Given the description of an element on the screen output the (x, y) to click on. 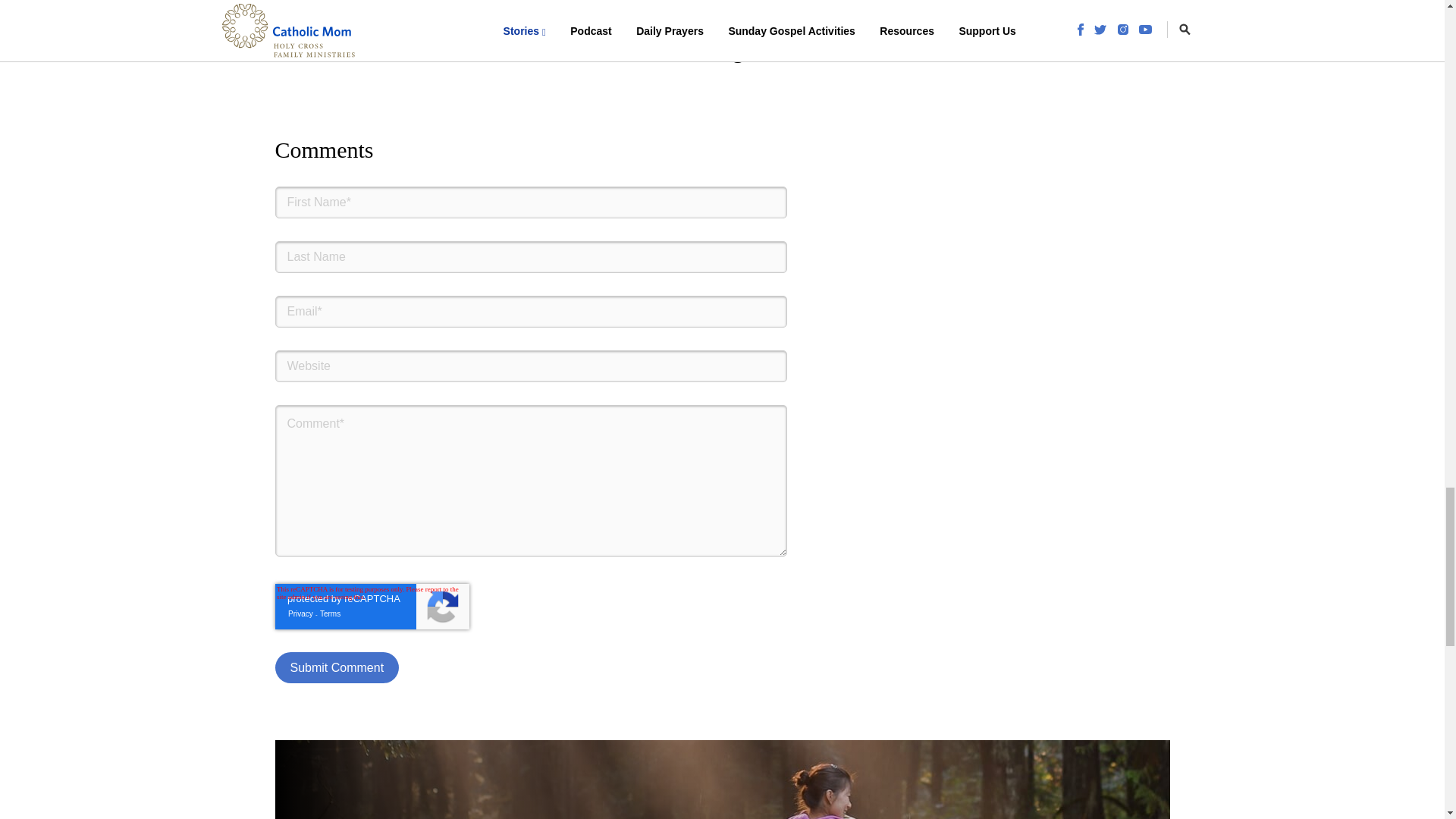
Submit Comment (336, 667)
reCAPTCHA (371, 606)
